Given the description of an element on the screen output the (x, y) to click on. 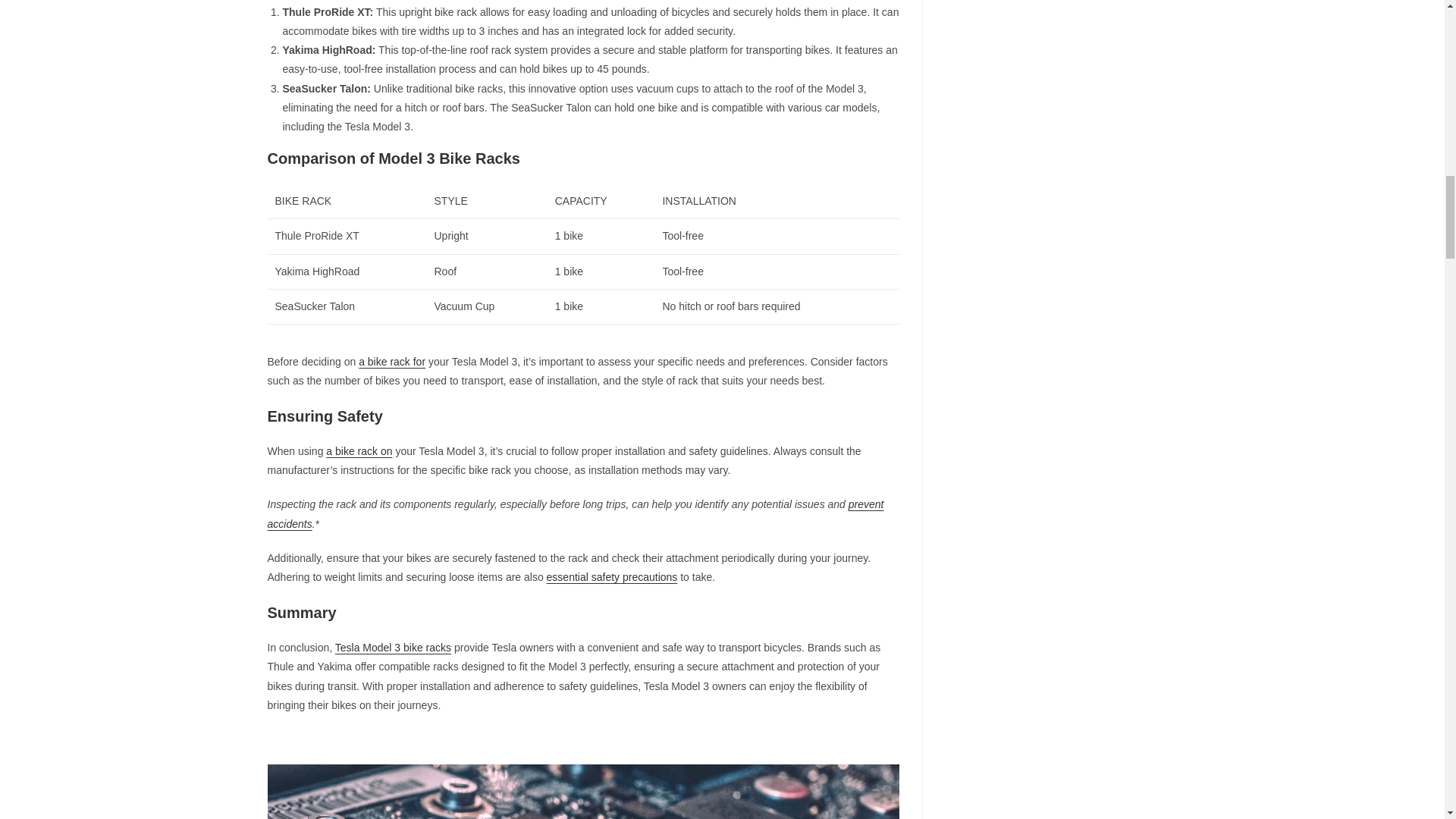
essential safety precautions (612, 576)
a bike rack for (391, 361)
prevent accidents (574, 513)
Tesla Model 3 bike racks (392, 647)
Tesla Model 3 Bike Rack (582, 791)
a bike rack on (358, 451)
